Given the description of an element on the screen output the (x, y) to click on. 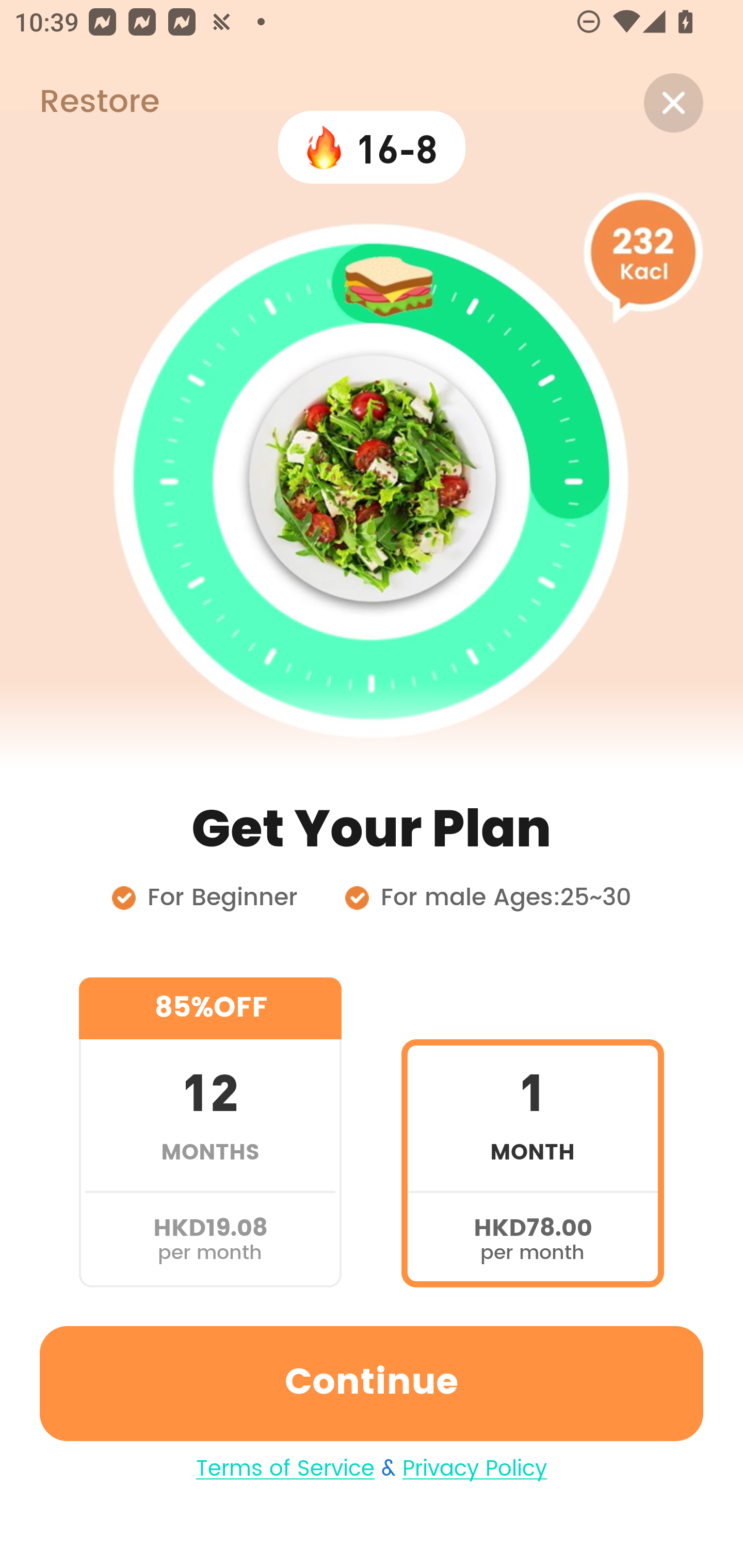
Restore (79, 102)
85%OFF 12 MONTHS per month HKD19.08 (209, 1131)
1 MONTH per month HKD78.00 (532, 1131)
Continue (371, 1383)
